Given the description of an element on the screen output the (x, y) to click on. 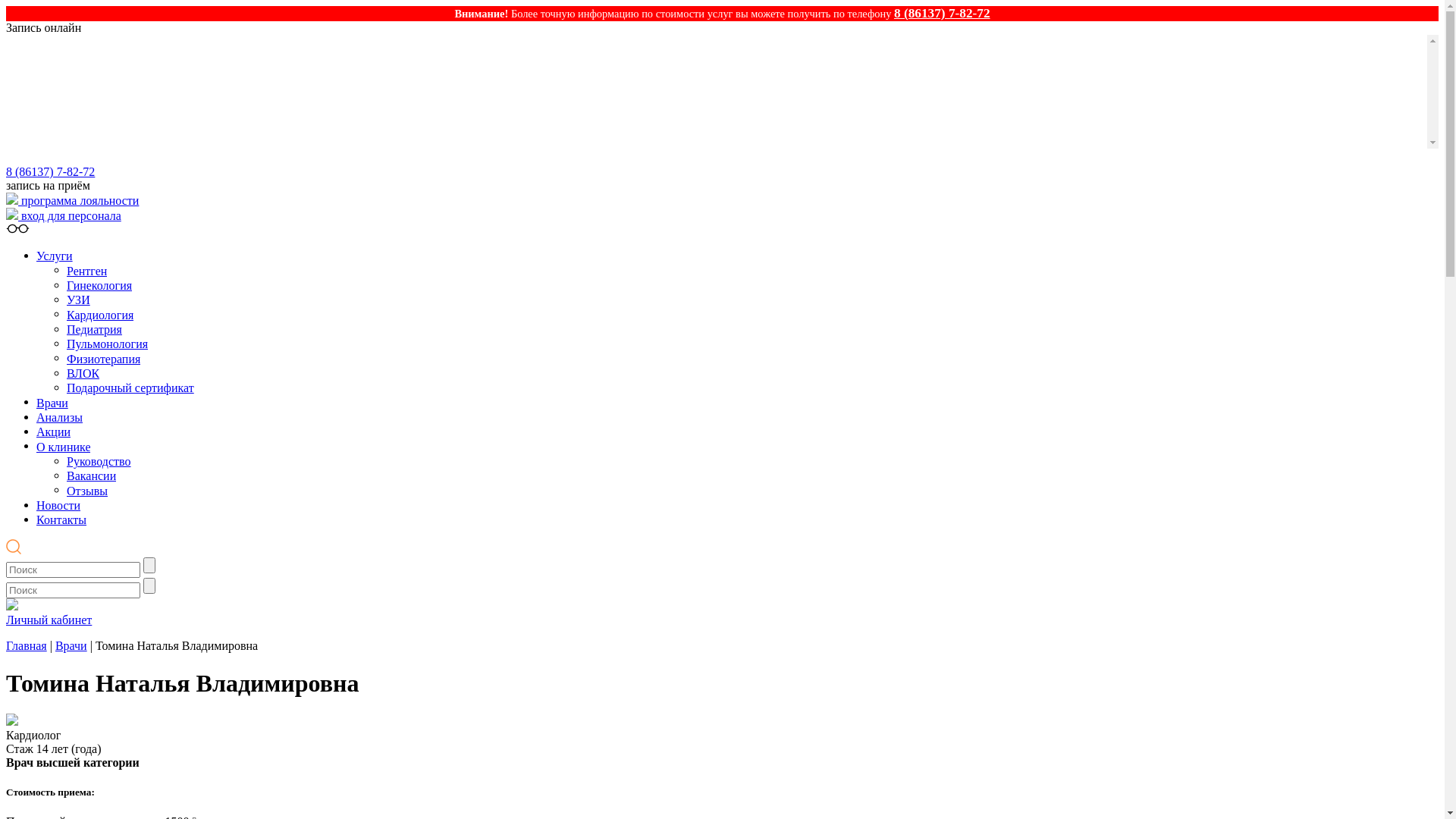
8 (86137) 7-82-72 Element type: text (50, 171)
8 (86137) 7-82-72 Element type: text (942, 13)
